Given the description of an element on the screen output the (x, y) to click on. 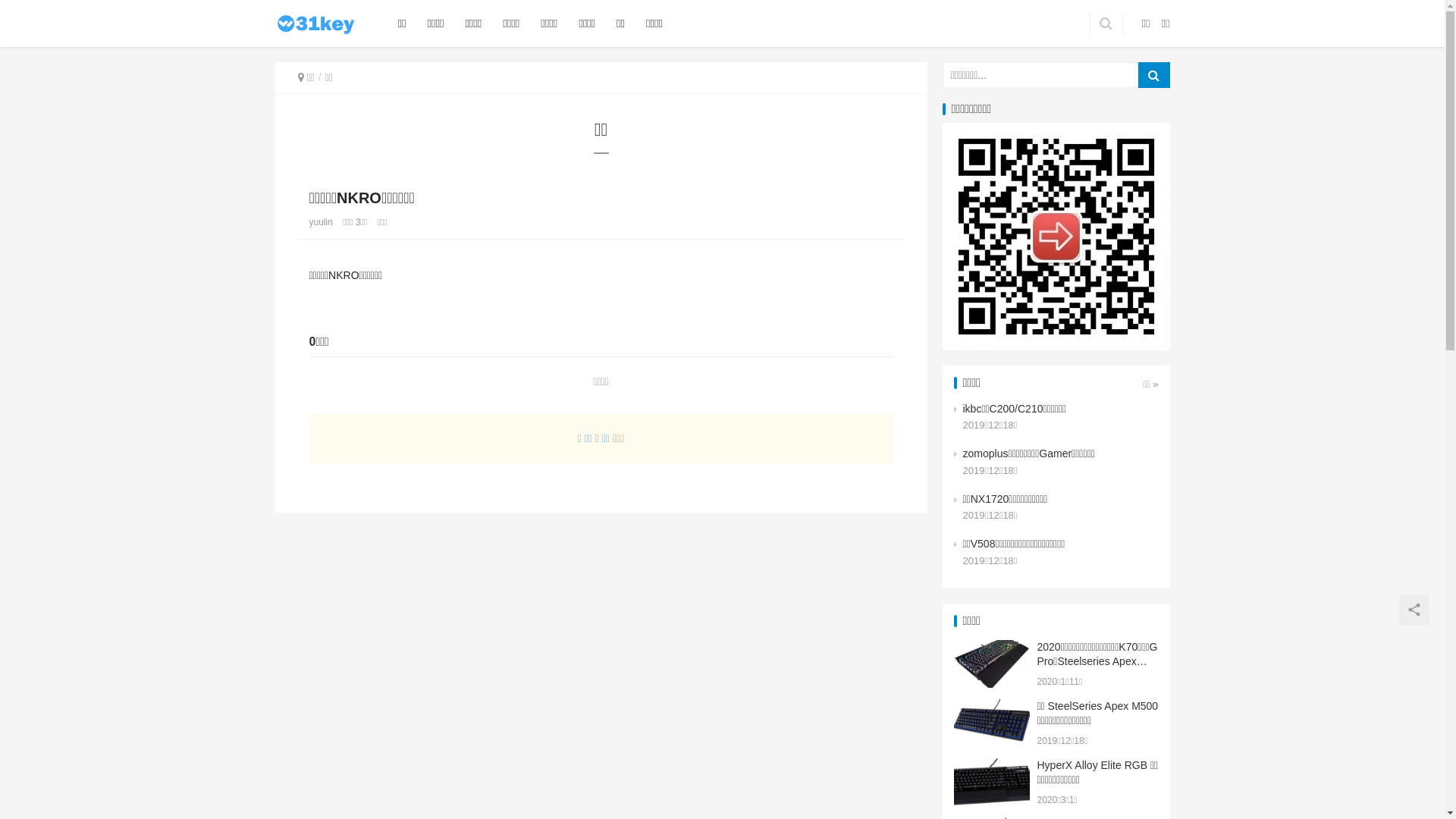
yuulin Element type: text (320, 221)
